Given the description of an element on the screen output the (x, y) to click on. 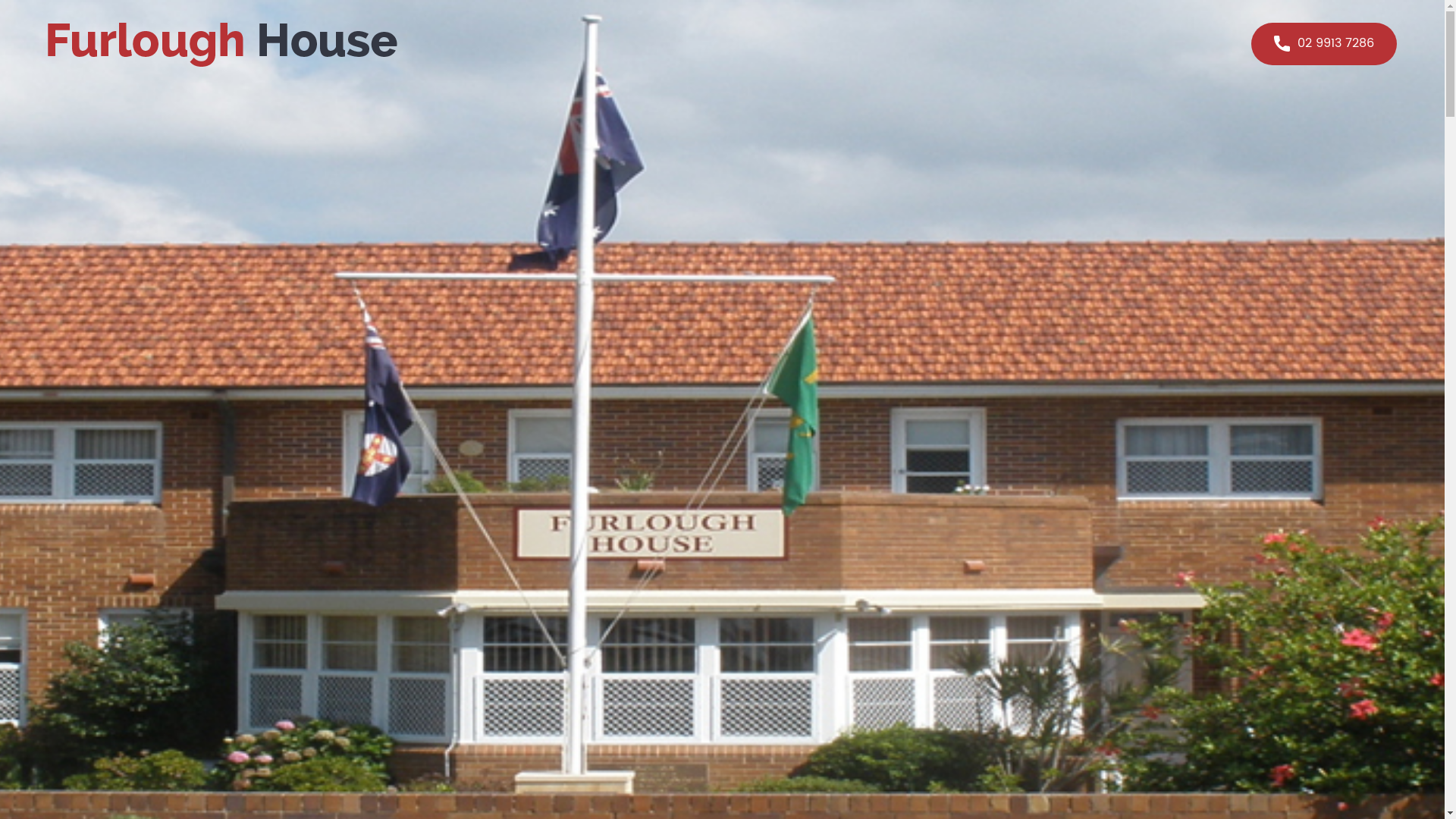
02 9913 7286 Element type: text (1323, 43)
